Given the description of an element on the screen output the (x, y) to click on. 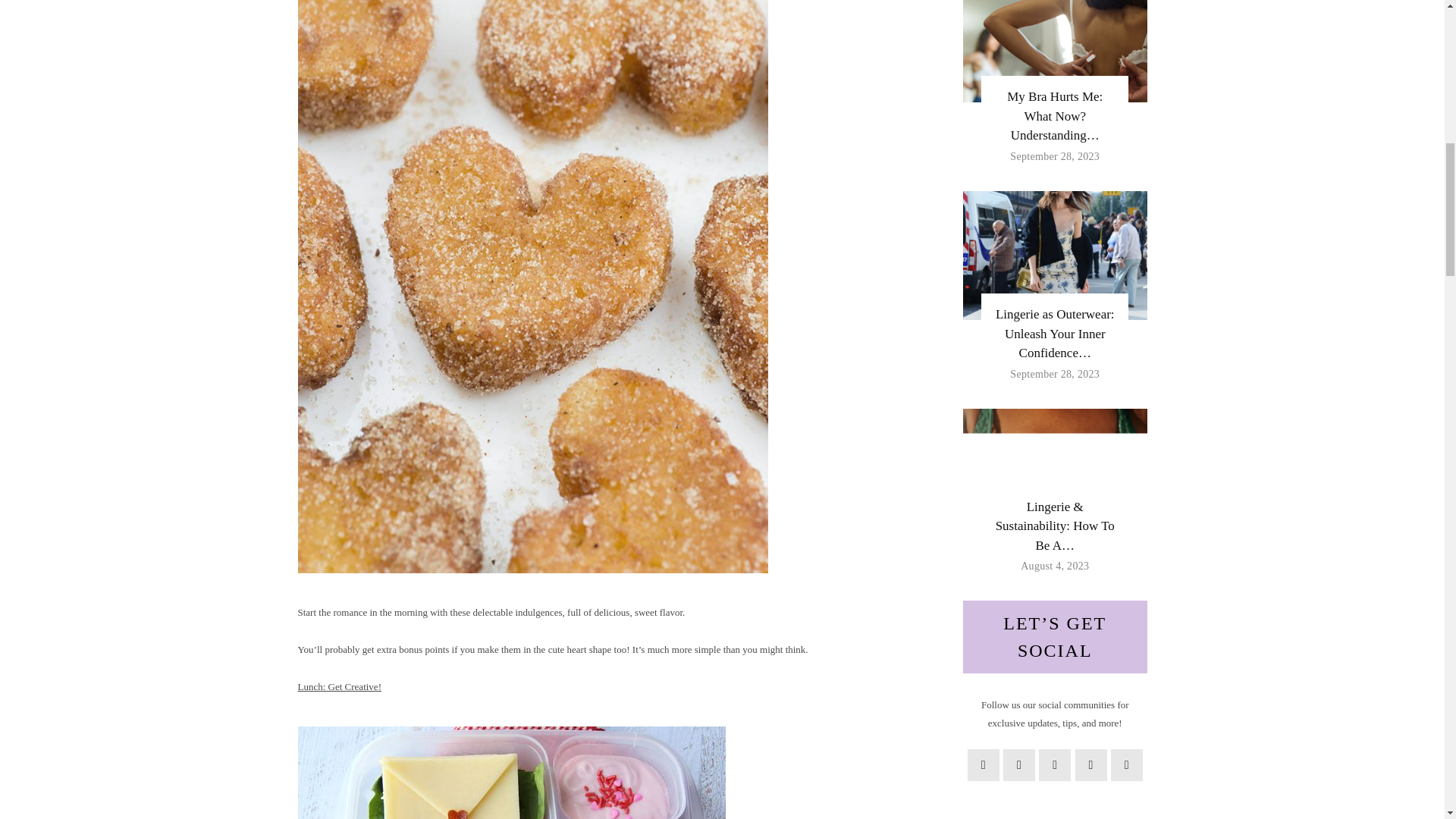
Facebook (983, 765)
Pinterest (1054, 765)
Twitter (1019, 765)
